Given the description of an element on the screen output the (x, y) to click on. 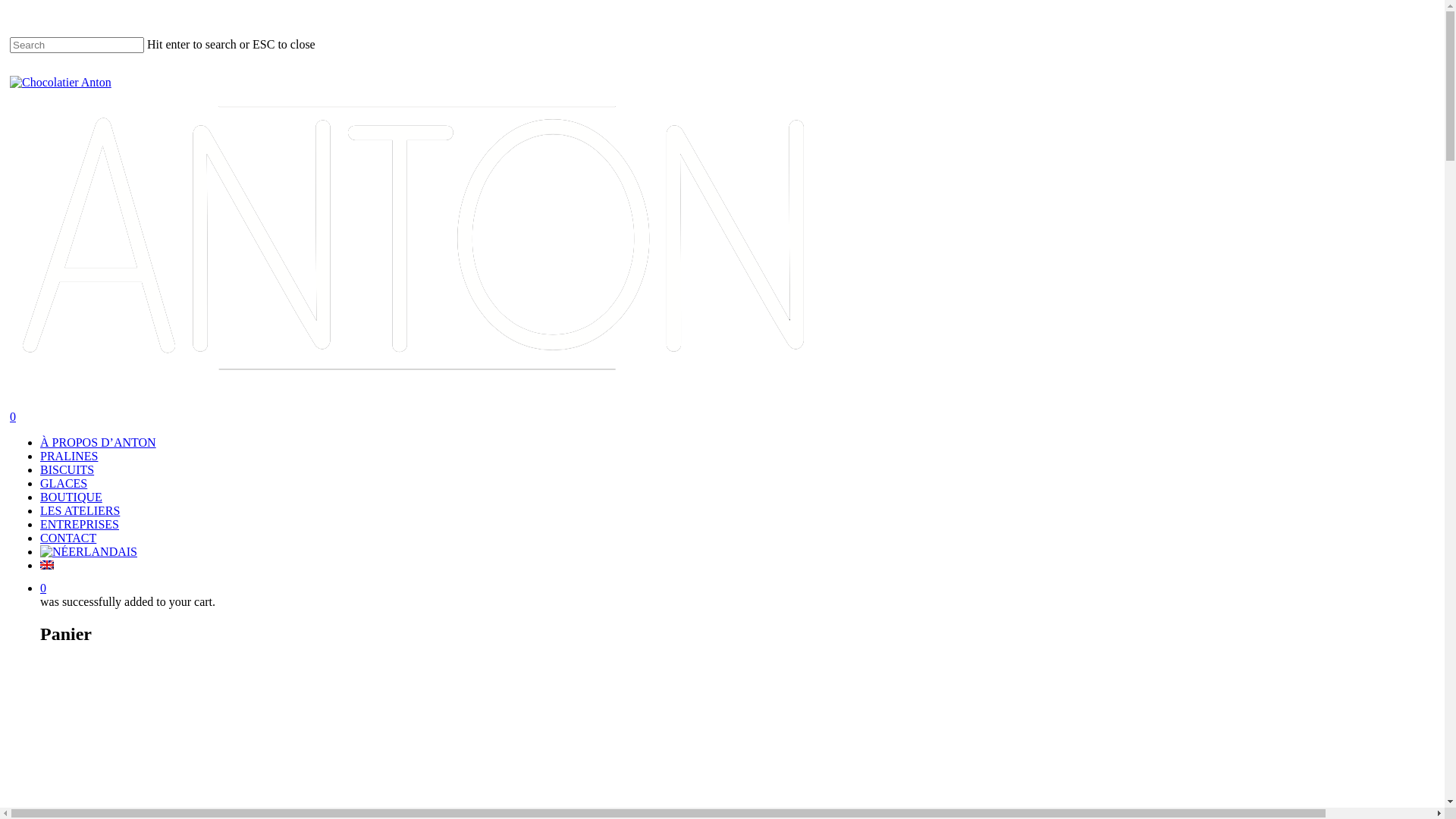
0 Element type: text (426, 416)
0 Element type: text (442, 588)
LES ATELIERS Element type: text (79, 510)
PRALINES Element type: text (68, 455)
BOUTIQUE Element type: text (71, 496)
CONTACT Element type: text (68, 537)
GLACES Element type: text (63, 482)
ENTREPRISES Element type: text (79, 523)
BISCUITS Element type: text (67, 469)
